Given the description of an element on the screen output the (x, y) to click on. 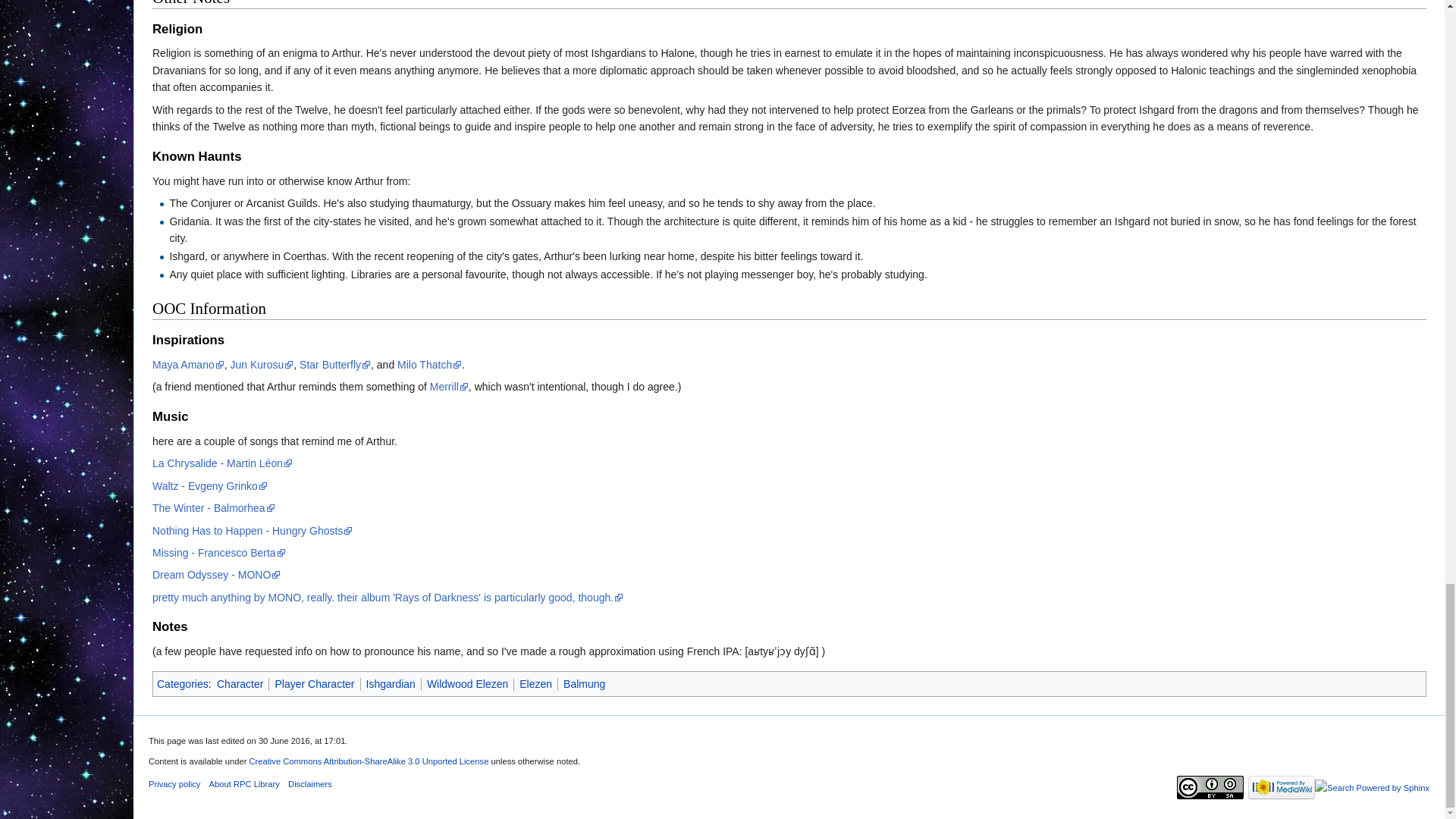
Milo Thatch (429, 364)
Wildwood Elezen (467, 684)
Special:Categories (182, 684)
Ishgardian (389, 684)
Category:Character (239, 684)
Character (239, 684)
Category:Elezen (535, 684)
Category:Player Character (314, 684)
Maya Amano (188, 364)
Dream Odyssey - MONO (216, 574)
Category:Ishgardian (389, 684)
Elezen (535, 684)
Merrill (448, 386)
Jun Kurosu (262, 364)
